Given the description of an element on the screen output the (x, y) to click on. 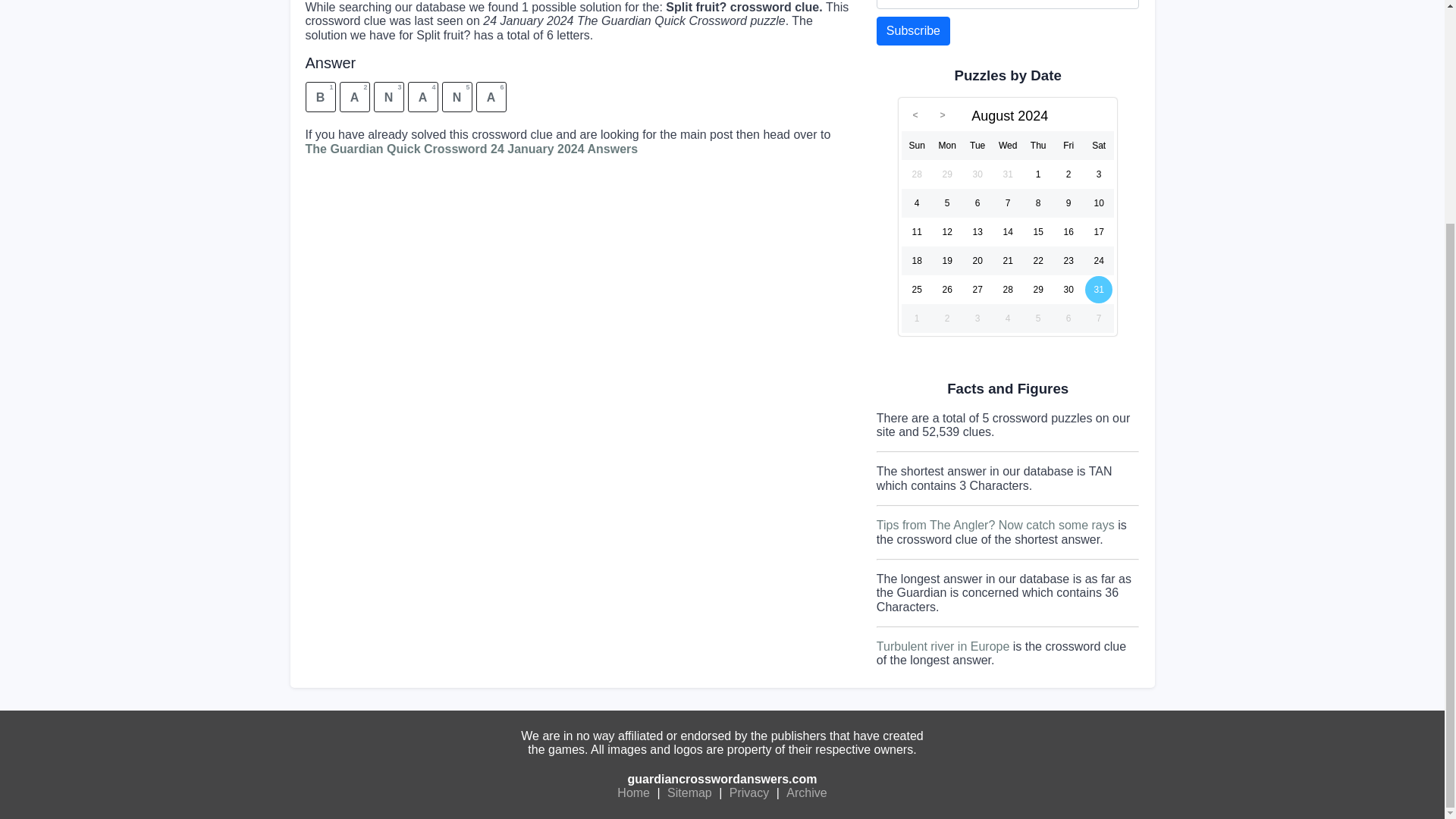
Sitemap (689, 792)
Archive (806, 792)
Privacy (749, 792)
guardiancrosswordanswers.com (721, 779)
Home (632, 792)
The Guardian Quick Crossword 24 January 2024 Answers (470, 148)
Subscribe (913, 30)
Turbulent river in Europe (943, 645)
Tips from The Angler? Now catch some rays (995, 524)
Subscribe (913, 30)
